Given the description of an element on the screen output the (x, y) to click on. 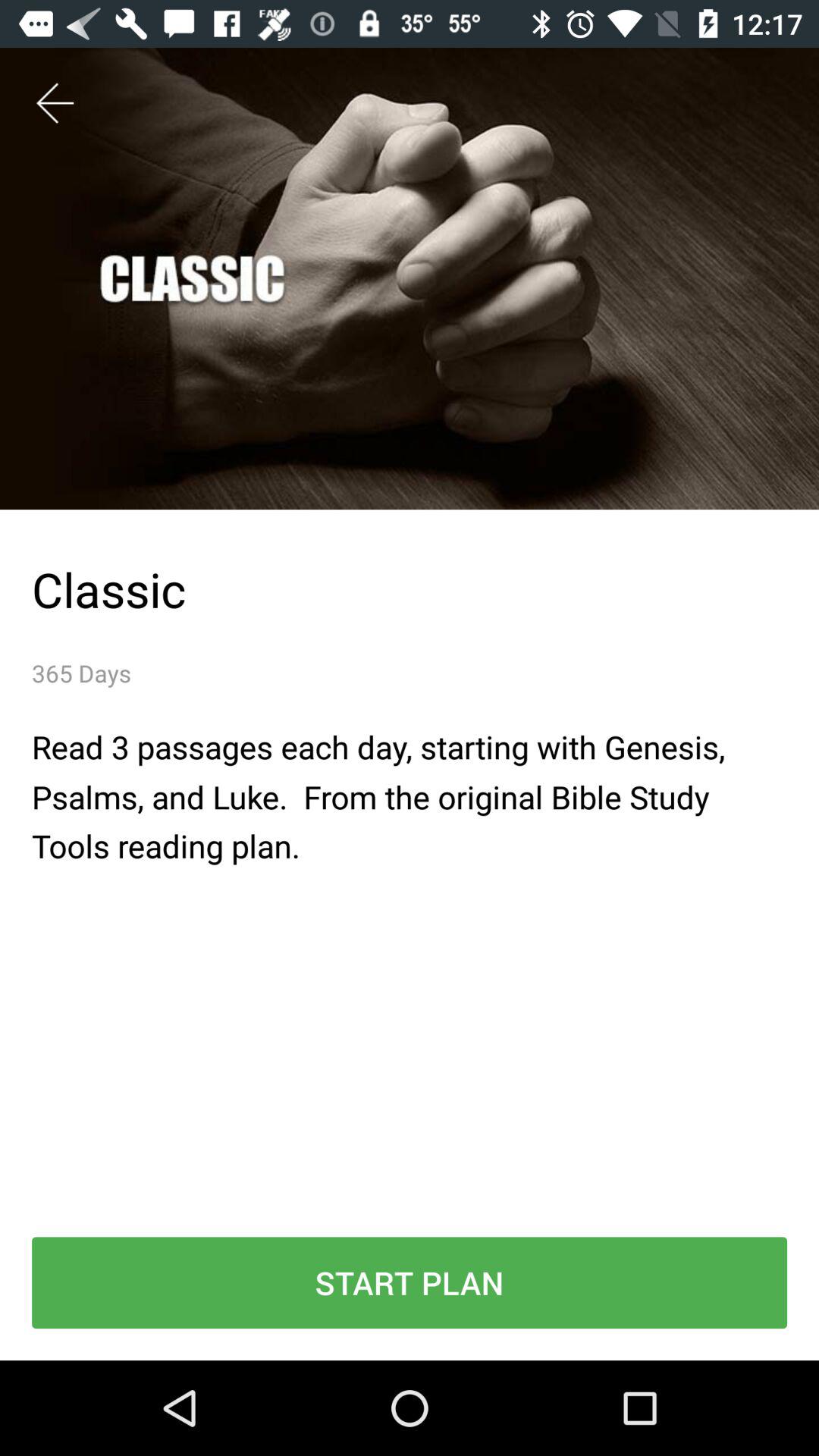
turn on start plan icon (409, 1282)
